Given the description of an element on the screen output the (x, y) to click on. 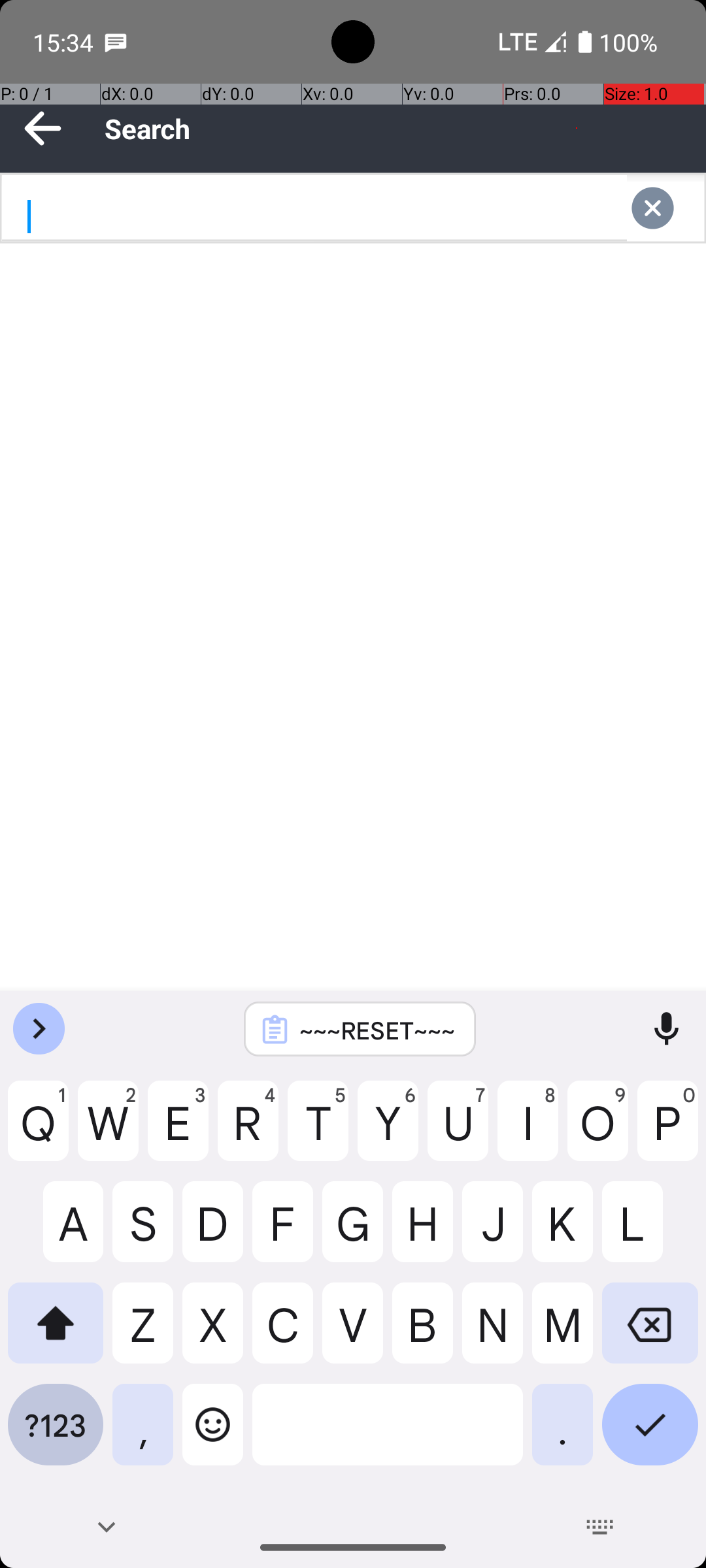
 Element type: android.widget.TextView (665, 207)
